Given the description of an element on the screen output the (x, y) to click on. 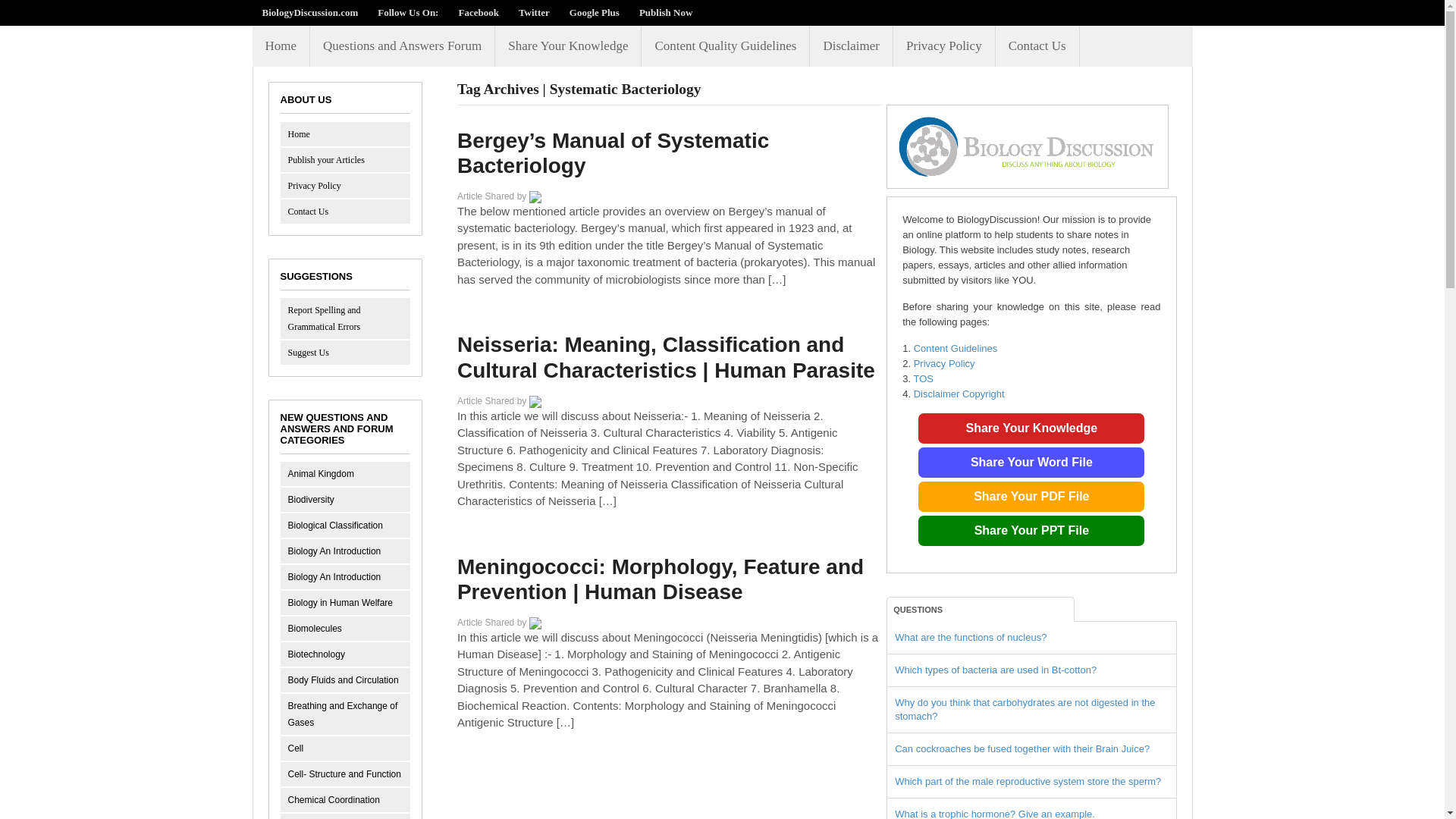
Disclaimer Copyright (959, 393)
BiologyDiscussion.com (309, 12)
Can cockroaches be fused together with their Brain Juice? (1022, 748)
Disclaimer (850, 45)
Share Your Knowledge (1031, 428)
Questions and Answers Forum (402, 45)
Share Your PDF File (1031, 496)
Share Your Word File (1031, 462)
Facebook (478, 12)
Privacy Policy (943, 45)
